Given the description of an element on the screen output the (x, y) to click on. 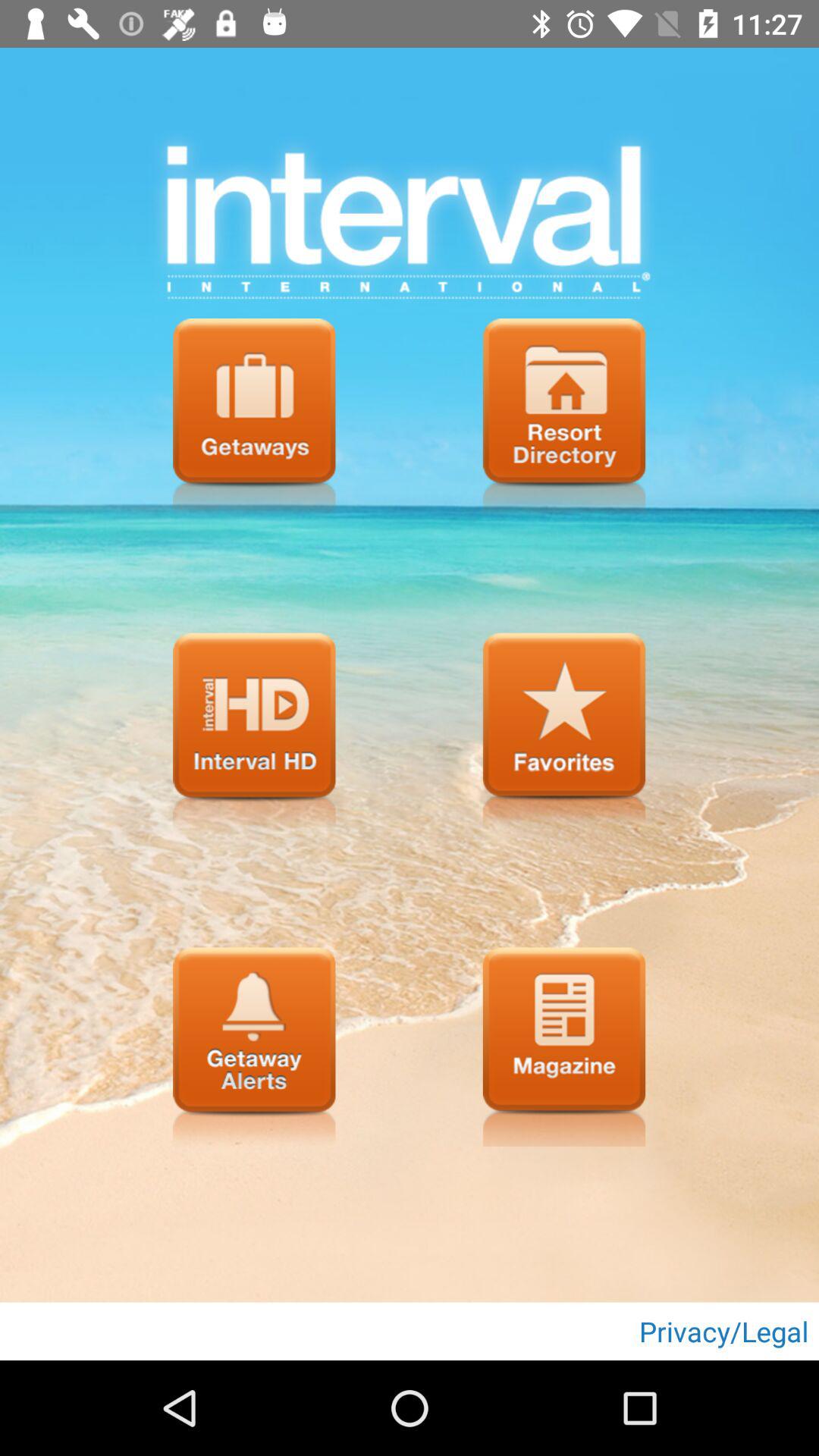
click for resort directory (563, 417)
